Given the description of an element on the screen output the (x, y) to click on. 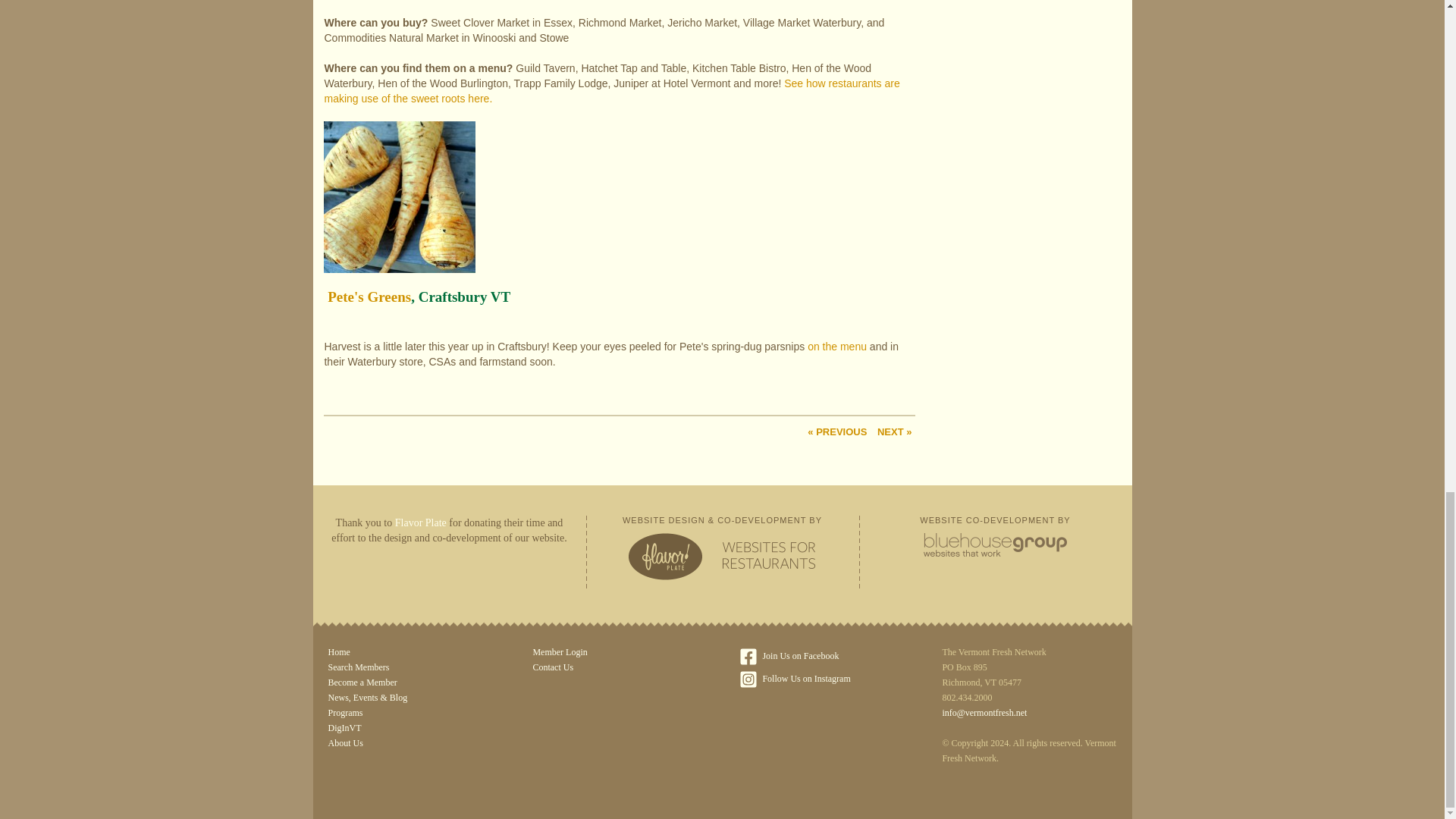
About Us (408, 743)
Flavor Plate (420, 522)
Become a Member (408, 682)
Home (408, 652)
Pete's Greens (368, 296)
Search Members (408, 667)
on the menu (837, 346)
See how restaurants are making use of the sweet roots here. (611, 90)
DigInVT (408, 727)
Programs (408, 712)
